Given the description of an element on the screen output the (x, y) to click on. 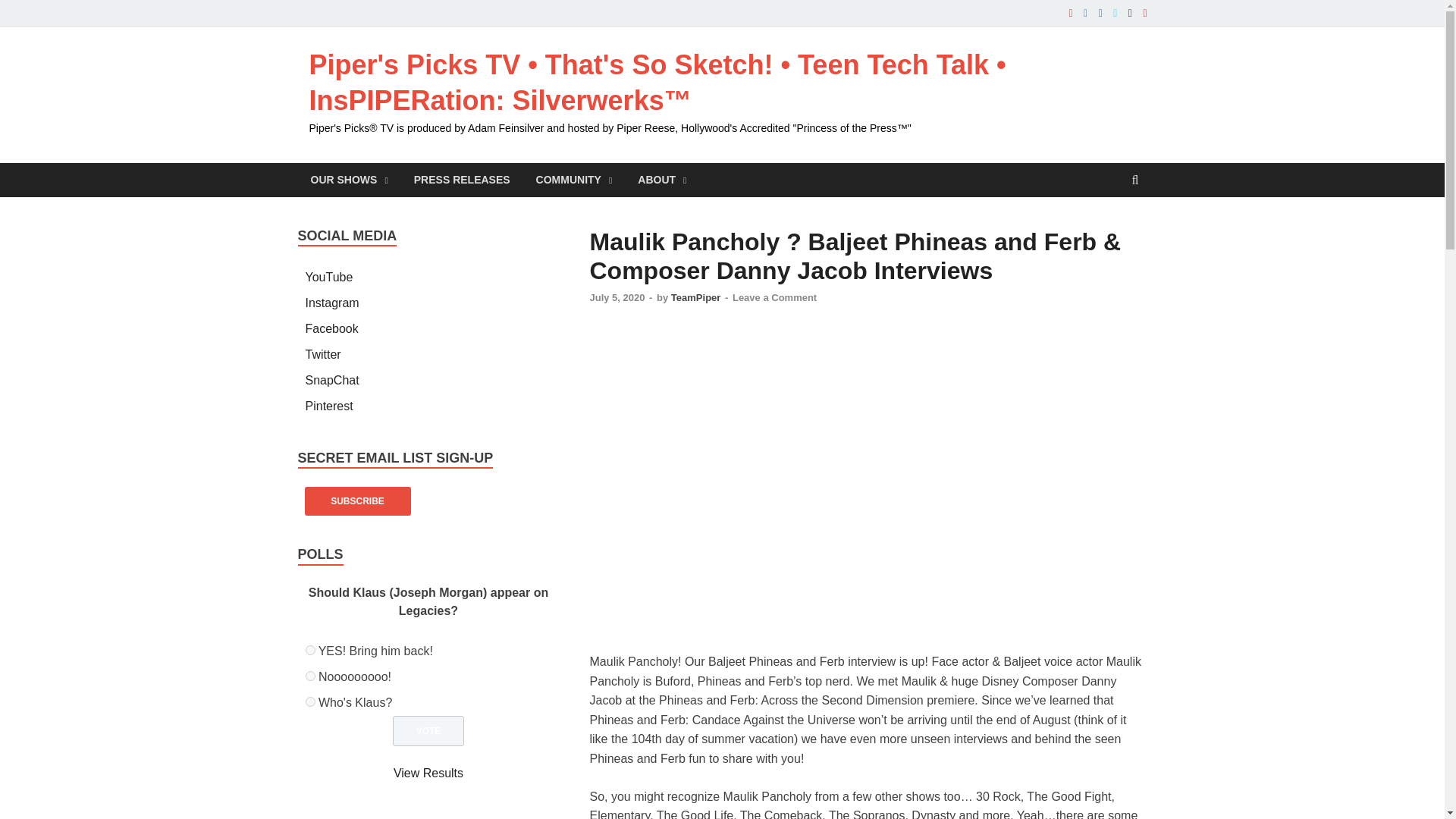
22 (309, 650)
SUBSCRIBE (357, 500)
ABOUT (661, 179)
23 (309, 675)
COMMUNITY (574, 179)
24 (309, 701)
PRESS RELEASES (461, 179)
Leave a Comment (774, 297)
   Vote    (428, 730)
View Results Of This Poll (428, 772)
TeamPiper (695, 297)
July 5, 2020 (617, 297)
OUR SHOWS (348, 179)
